Given the description of an element on the screen output the (x, y) to click on. 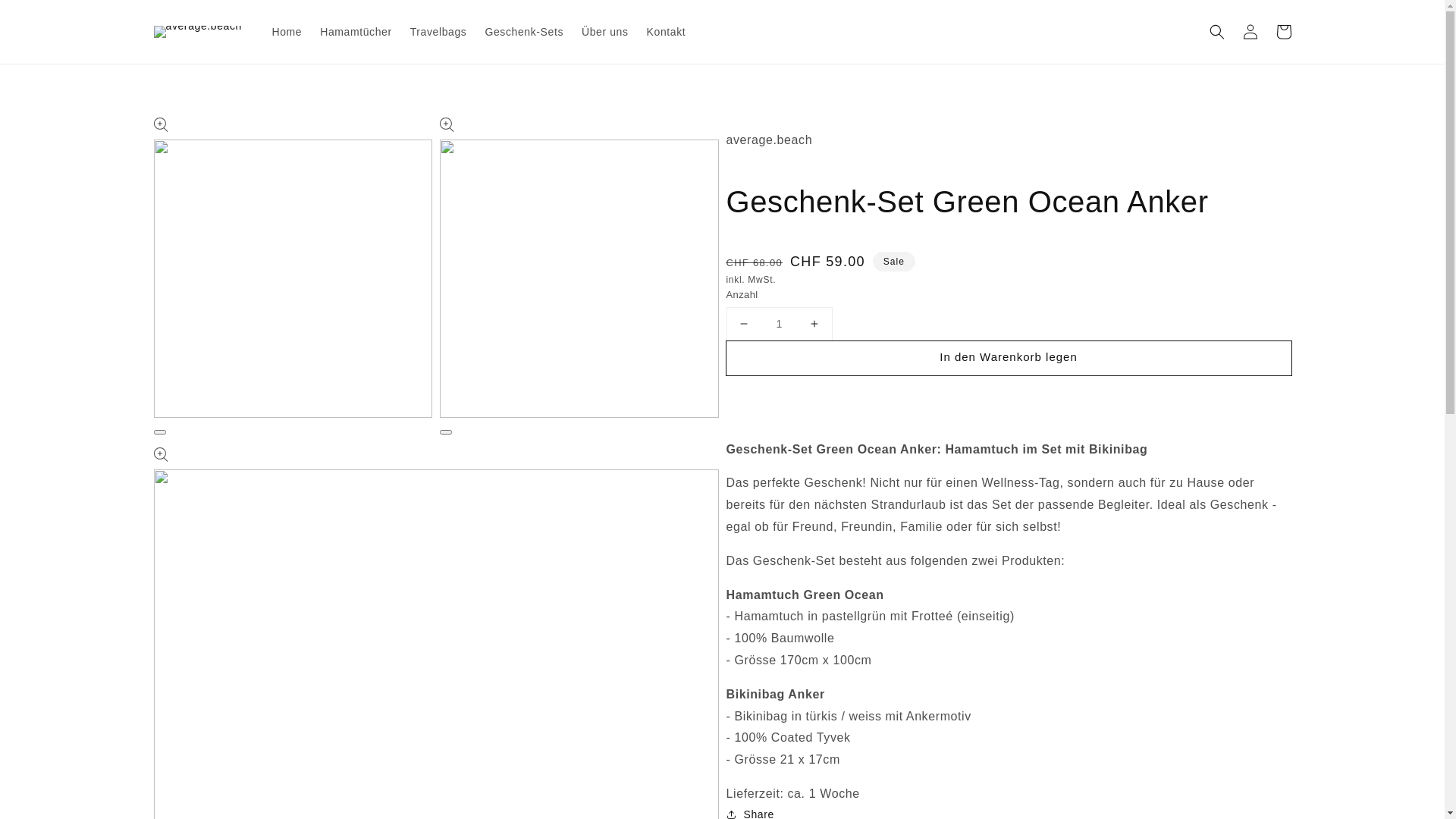
Zu Produktinformationen springen Element type: text (198, 133)
In den Warenkorb legen Element type: text (1008, 358)
Einloggen Element type: text (1249, 31)
Kontakt Element type: text (666, 31)
Geschenk-Sets Element type: text (523, 31)
Warenkorb Element type: text (1282, 31)
Home Element type: text (286, 31)
Travelbags Element type: text (438, 31)
